Given the description of an element on the screen output the (x, y) to click on. 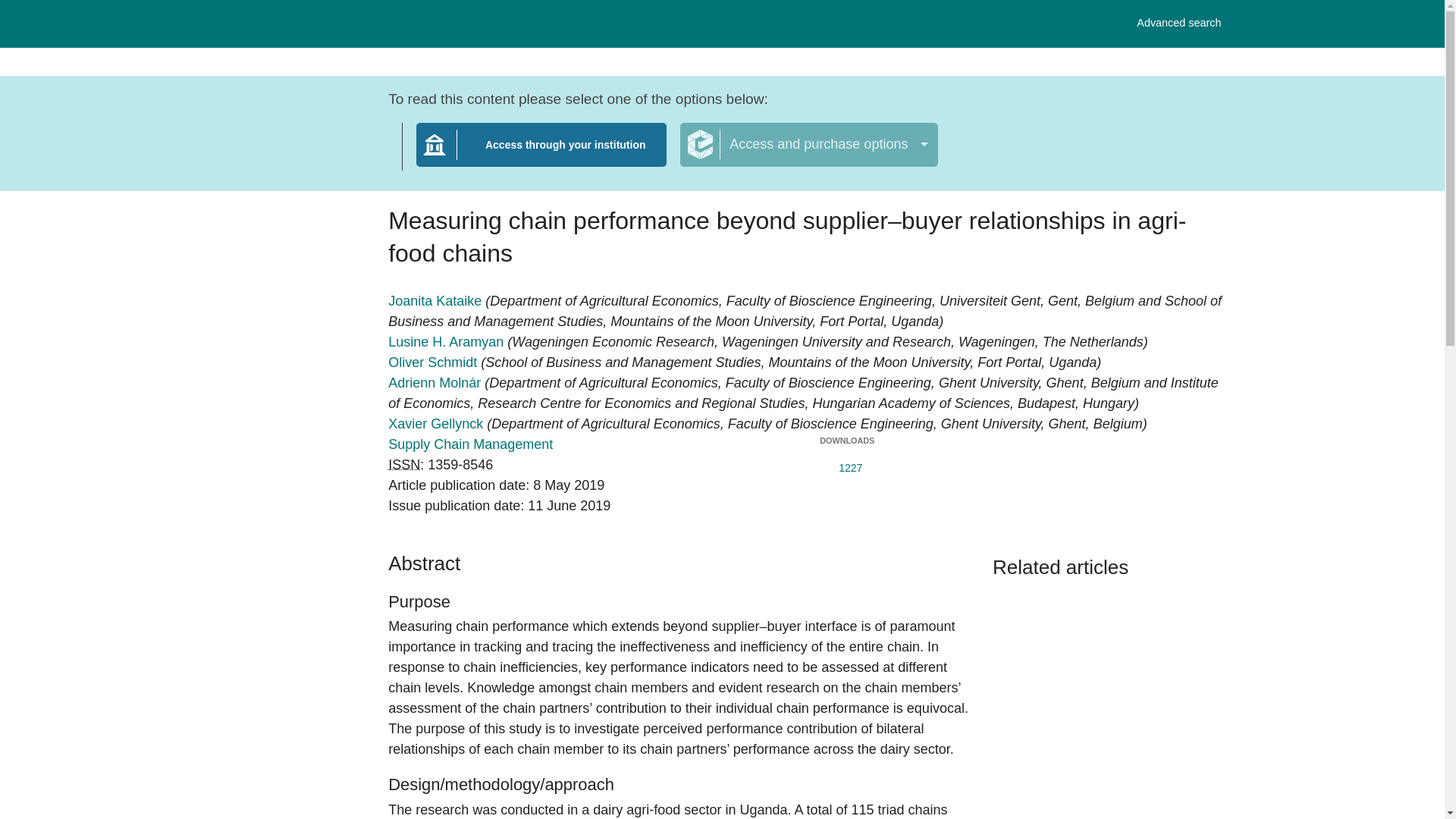
International Standard Serial Number. (404, 464)
Joanita Kataike (436, 300)
Lusine H. Aramyan (447, 341)
Oliver Schmidt (434, 362)
Access and purchase options (808, 144)
Access through your institution (541, 153)
Supply Chain Management (1178, 23)
This item has been downloaded 1227 times since 2019. (470, 444)
Xavier Gellynck (846, 464)
